Given the description of an element on the screen output the (x, y) to click on. 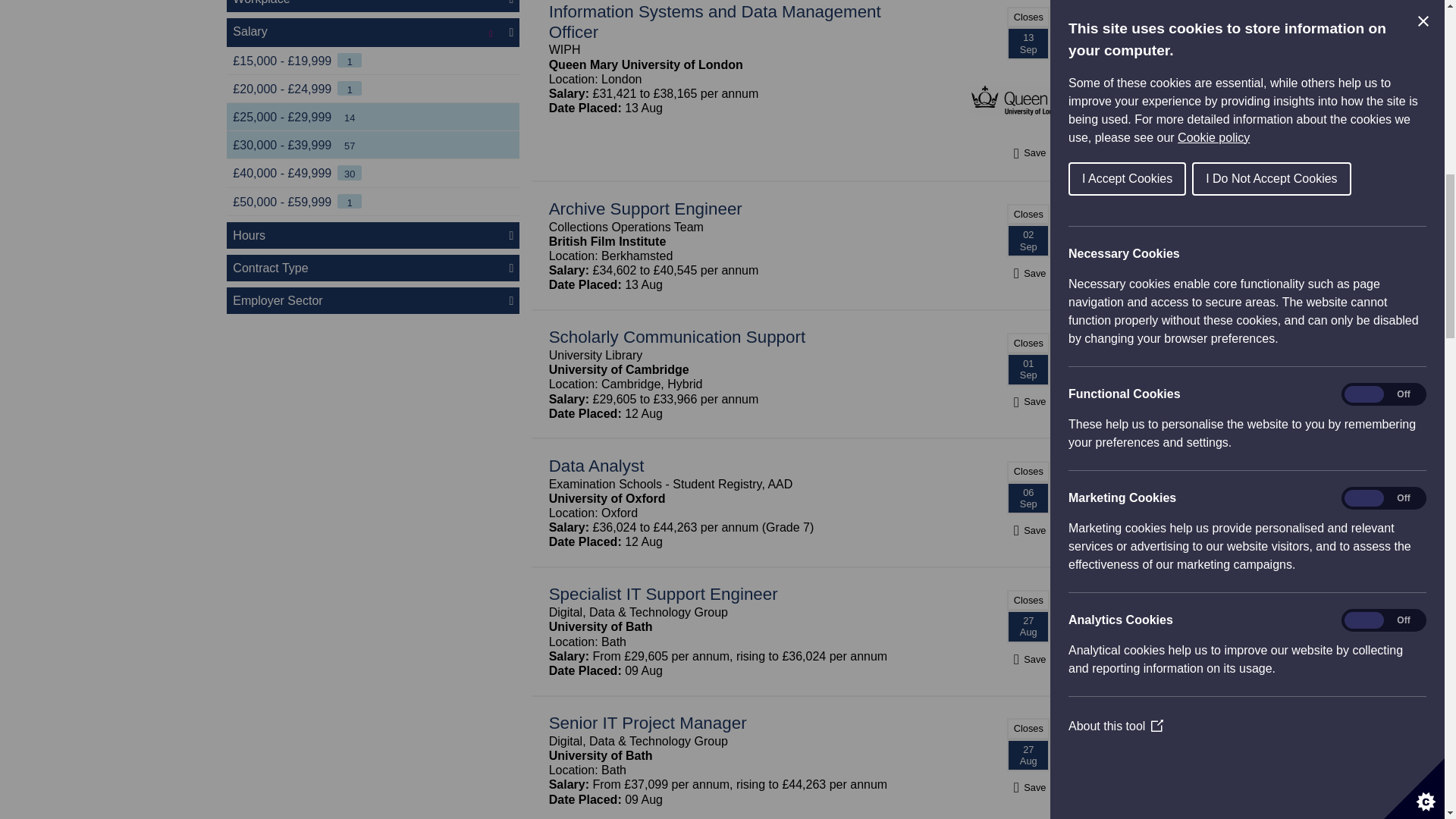
Save job (1027, 530)
Save job (1027, 659)
Save job (1027, 152)
Save job (1027, 787)
Save job (1027, 273)
Save job (1027, 401)
